Given the description of an element on the screen output the (x, y) to click on. 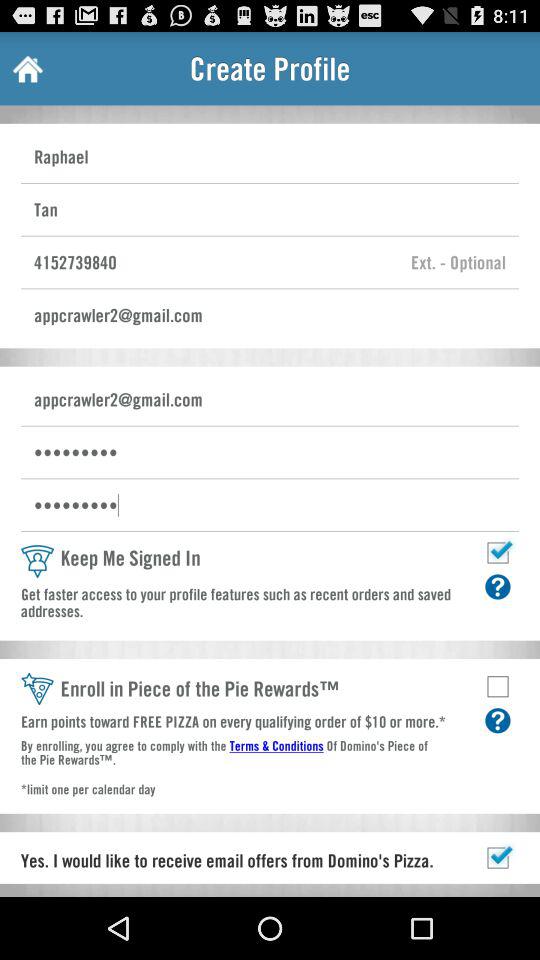
remain signed in (498, 552)
